Given the description of an element on the screen output the (x, y) to click on. 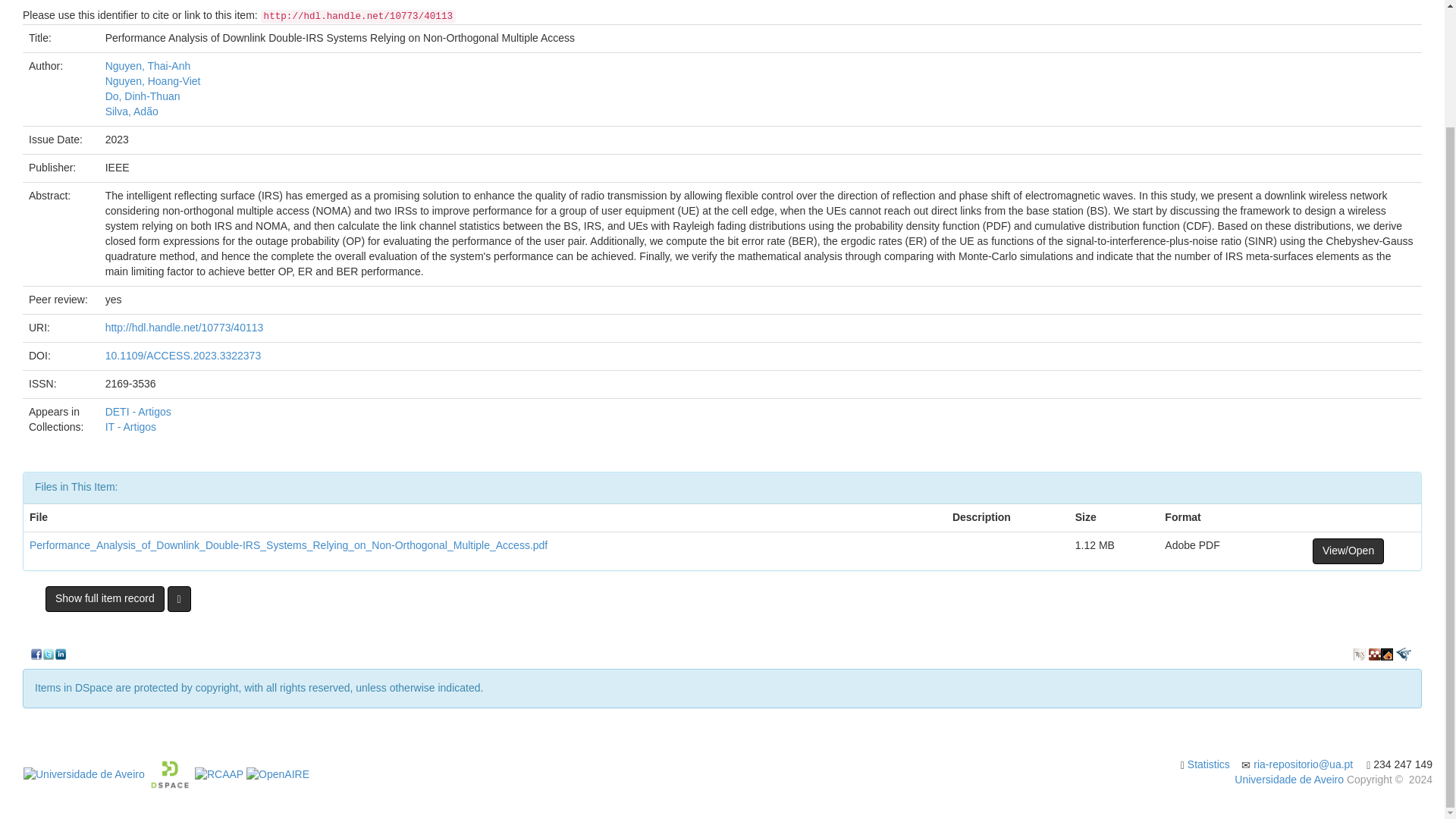
Partilhe no Facebook (36, 654)
Adicione ao Mendeley (1374, 654)
IT - Artigos (129, 426)
Nguyen, Thai-Anh (147, 65)
Nguyen, Hoang-Viet (152, 80)
Show full item record (104, 598)
Partilhe no LinkedIn (60, 654)
Exporte no formato Endnote (1386, 654)
Partilhe no Twitter (48, 654)
DETI - Artigos (137, 411)
